Given the description of an element on the screen output the (x, y) to click on. 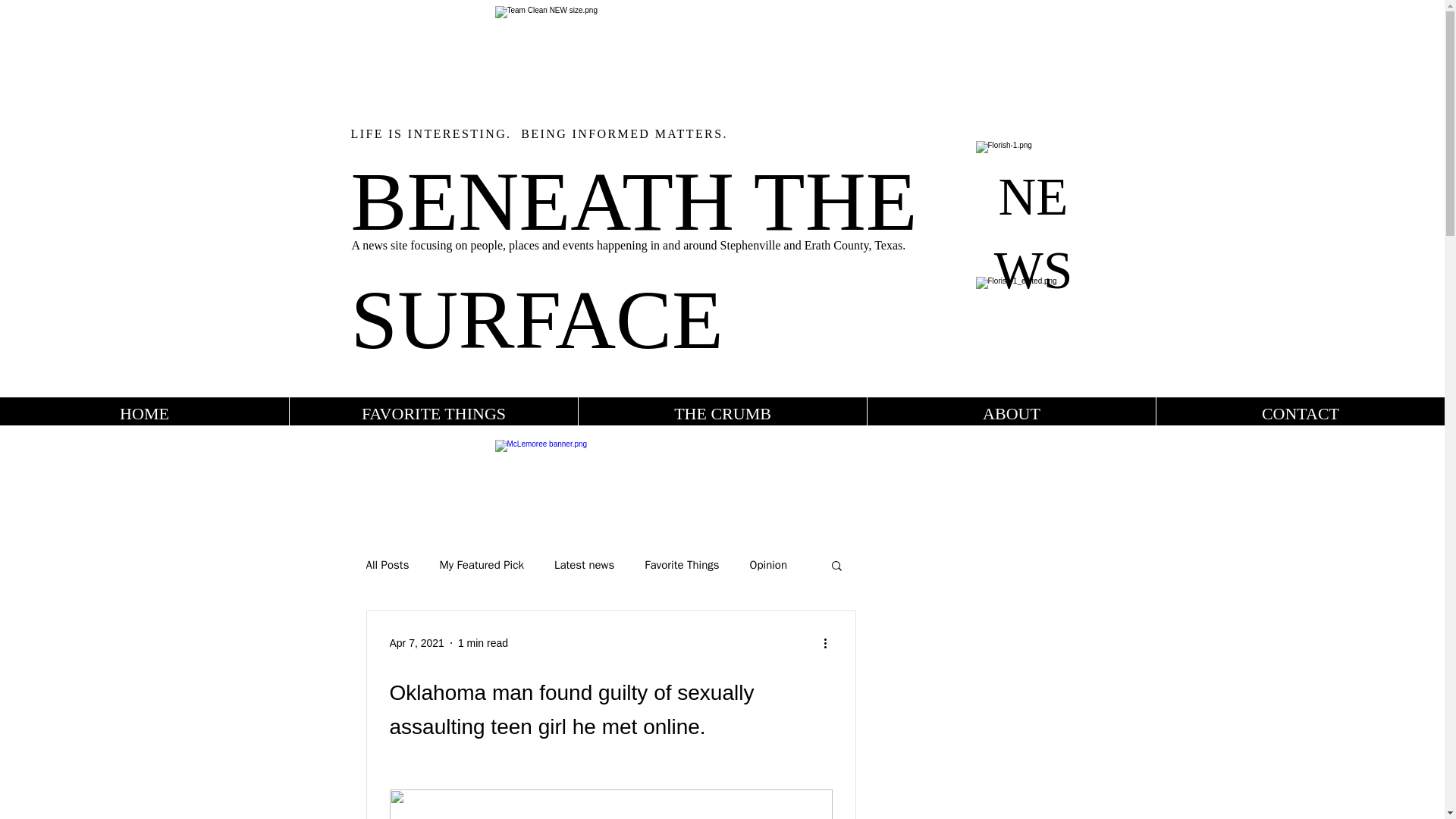
Opinion (768, 564)
Favorite Things (682, 564)
HOME (144, 413)
Latest news (584, 564)
Apr 7, 2021 (417, 643)
THE CRUMB (722, 413)
BENEATH THE SURFACE (633, 259)
All Posts (387, 564)
My Featured Pick (480, 564)
1 min read (483, 643)
ABOUT (1011, 413)
FAVORITE THINGS (433, 413)
